Given the description of an element on the screen output the (x, y) to click on. 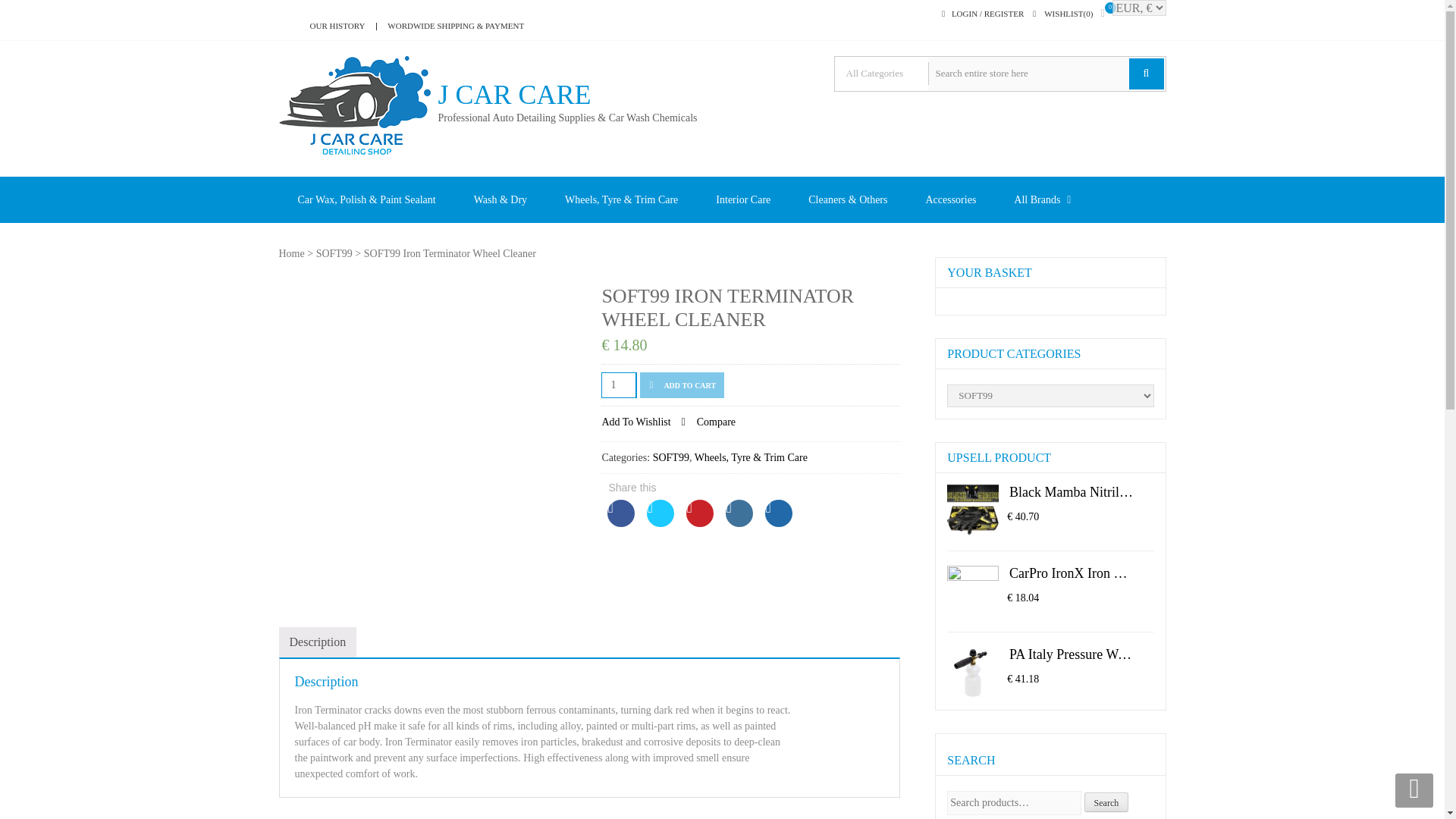
OUR HISTORY (331, 25)
Wishlist (1068, 13)
Qty (619, 385)
1 (619, 385)
All Brands (1036, 198)
Interior Care (743, 198)
Accessories (949, 198)
J CAR CARE (567, 94)
